Given the description of an element on the screen output the (x, y) to click on. 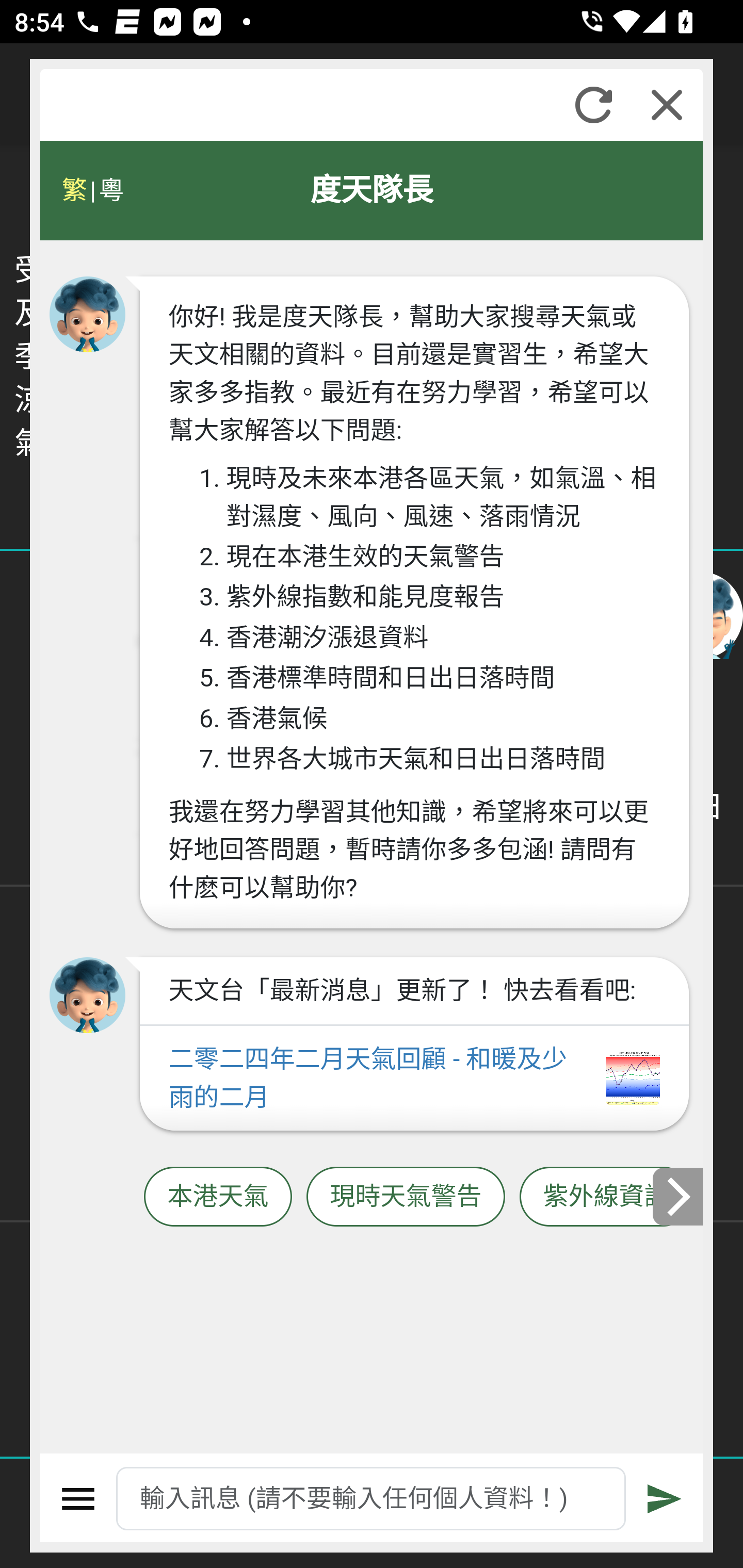
重新整理 (593, 104)
關閉 (666, 104)
繁 (73, 190)
粵 (110, 190)
二零二四年二月天氣回顧 - 和暖及少雨的二月 (413, 1078)
本港天氣 (217, 1196)
現時天氣警告 (405, 1196)
紫外線資訊 (605, 1196)
下一張 (678, 1196)
選單 (78, 1498)
遞交 (665, 1498)
